Given the description of an element on the screen output the (x, y) to click on. 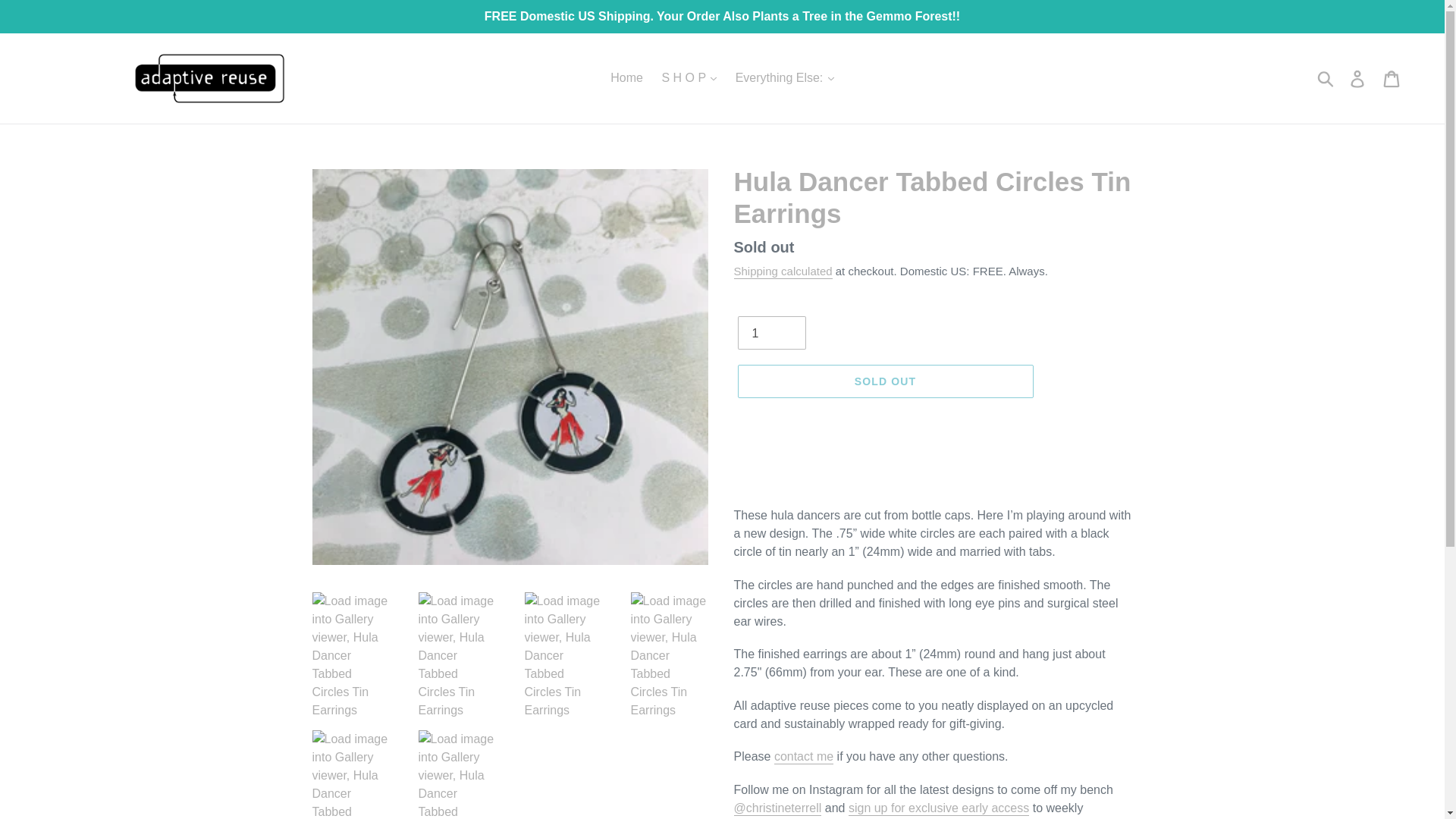
Cart (1392, 78)
1 (770, 332)
Home (626, 77)
Log in (1357, 78)
Submit (1326, 78)
